Given the description of an element on the screen output the (x, y) to click on. 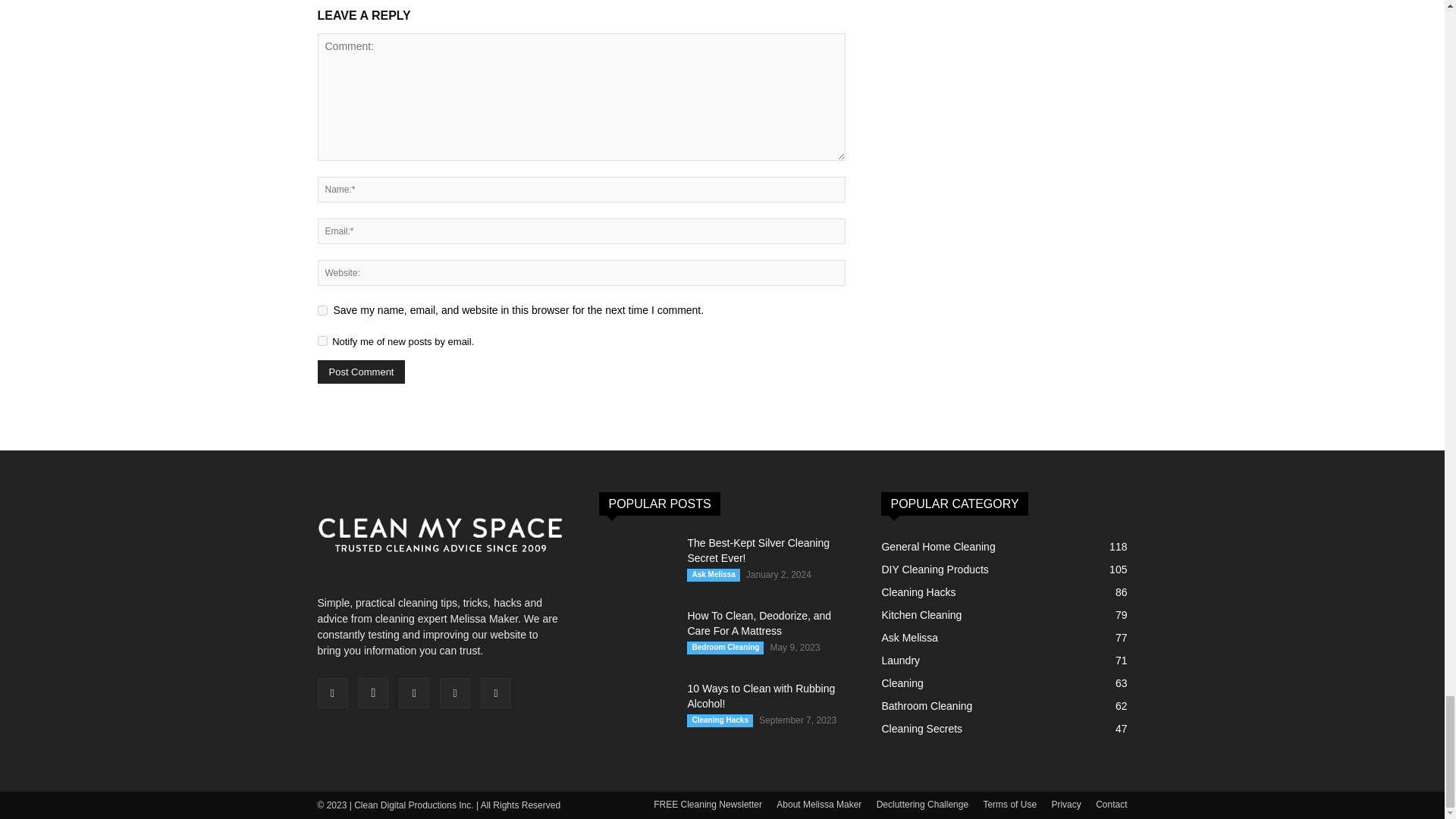
Post Comment (360, 372)
yes (321, 310)
subscribe (321, 340)
